Given the description of an element on the screen output the (x, y) to click on. 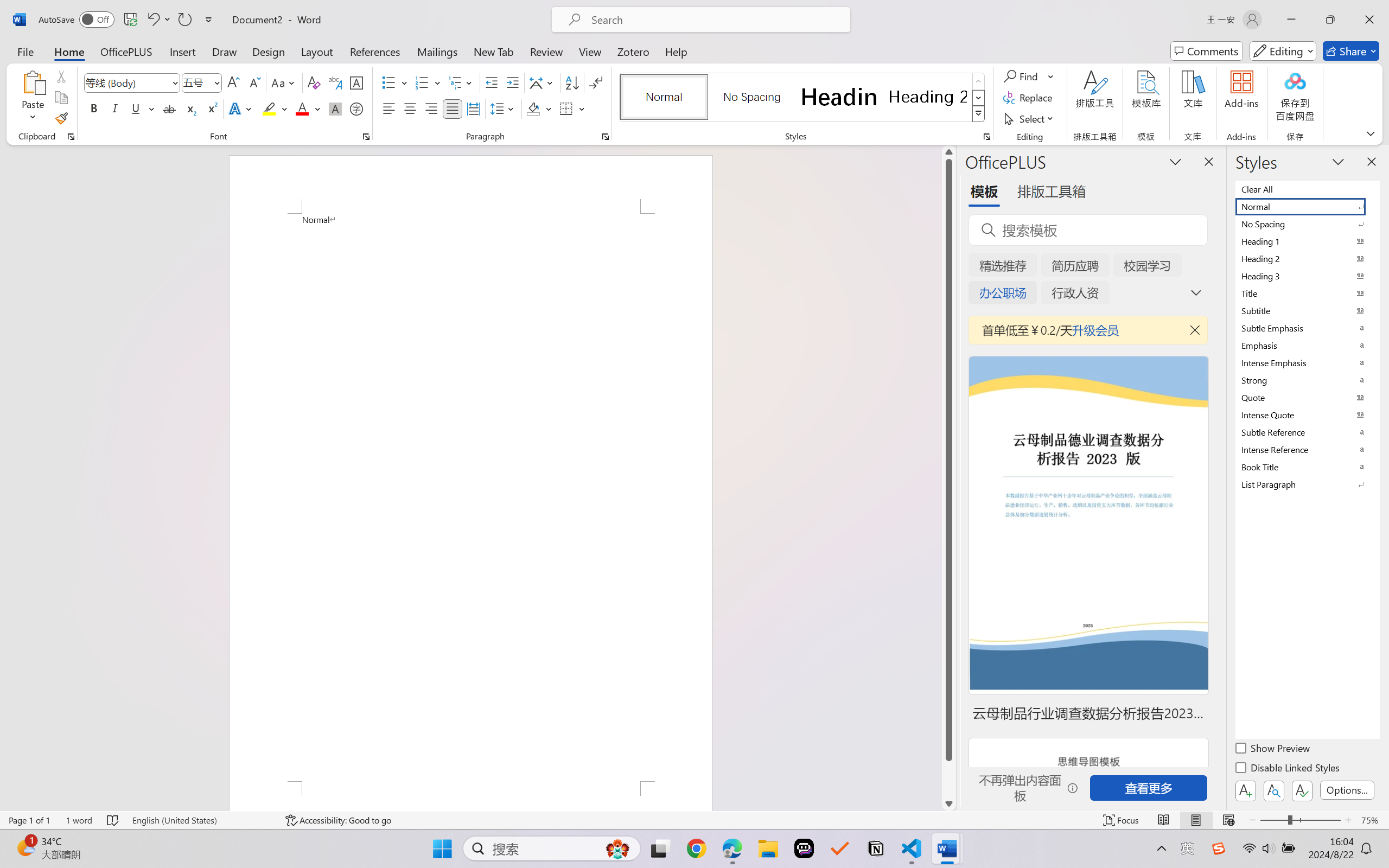
Zoom In (1348, 819)
Ribbon Display Options (1370, 132)
Class: NetUIButton (1301, 790)
Align Left (388, 108)
Format Painter (60, 118)
Underline (142, 108)
Mode (1283, 50)
No Spacing (1306, 223)
More Options (1051, 75)
Font Color (308, 108)
Open (215, 82)
Shading (539, 108)
Copy (60, 97)
